Given the description of an element on the screen output the (x, y) to click on. 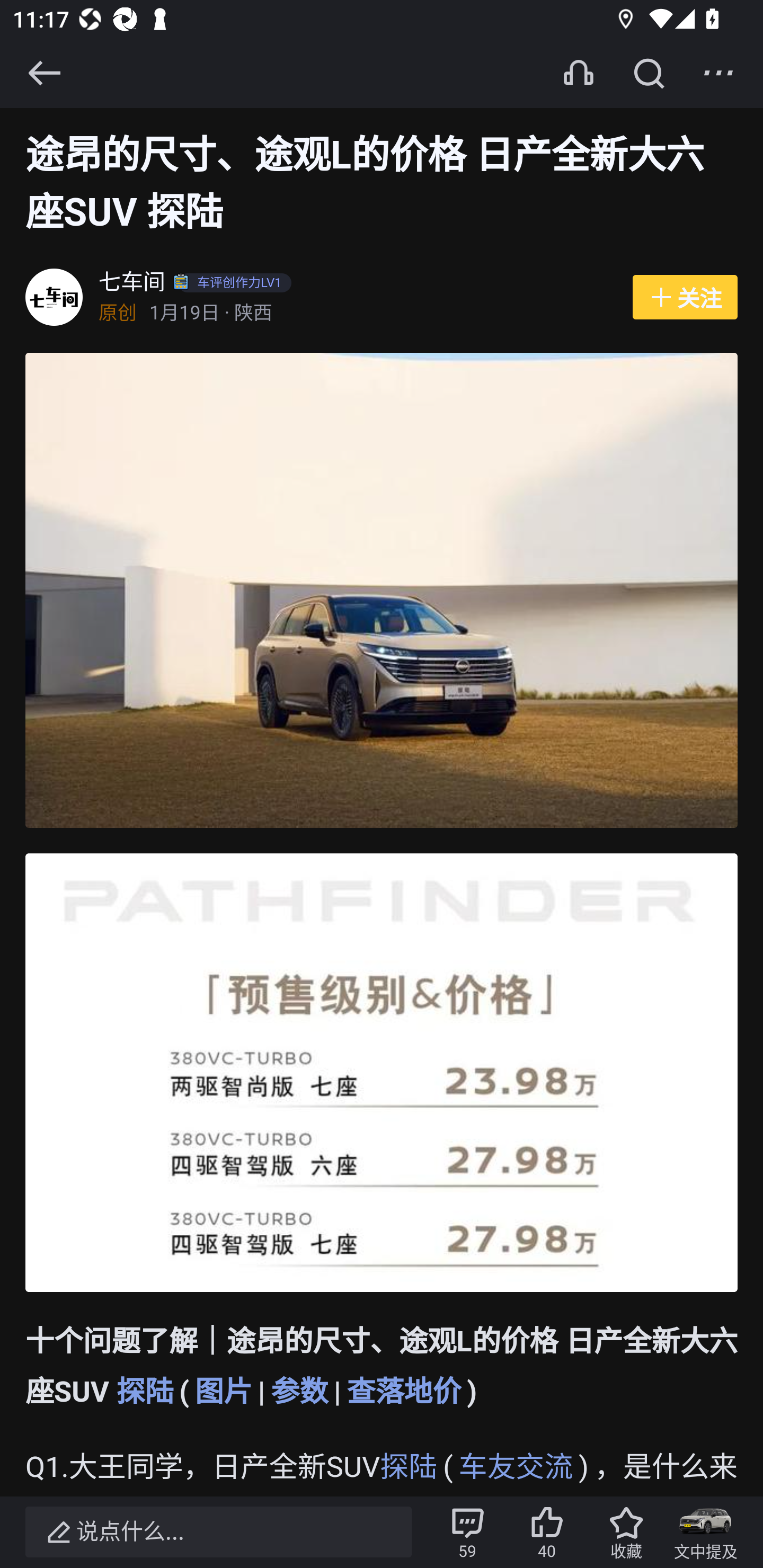
 (44, 72)
 (648, 72)
 (718, 72)
七车间 (132, 283)
6caff557e5abeeda5c02889e82178598~300x300 (53, 297)
5dca4359462c211ae53ac967efc56334 车评创作力LV1 (234, 283)
关注 (684, 297)
原创1月19日 · 陕西 原创 1月19日  · 陕西 (355, 314)
n0n-sj4XwK2WR2lM6cc5ECLbHNo (381, 590)
ZFnRjuj7wwYINT1ZM0LPVljz2kM (381, 1072)
探陆 (144, 1392)
图片 (222, 1392)
参数 (299, 1392)
查落地价 (404, 1392)
探陆 (408, 1468)
车友交流 (515, 1468)
 59 (467, 1531)
40 (546, 1531)
收藏 (625, 1531)
文中提及 (705, 1531)
 说点什么... (218, 1531)
